Given the description of an element on the screen output the (x, y) to click on. 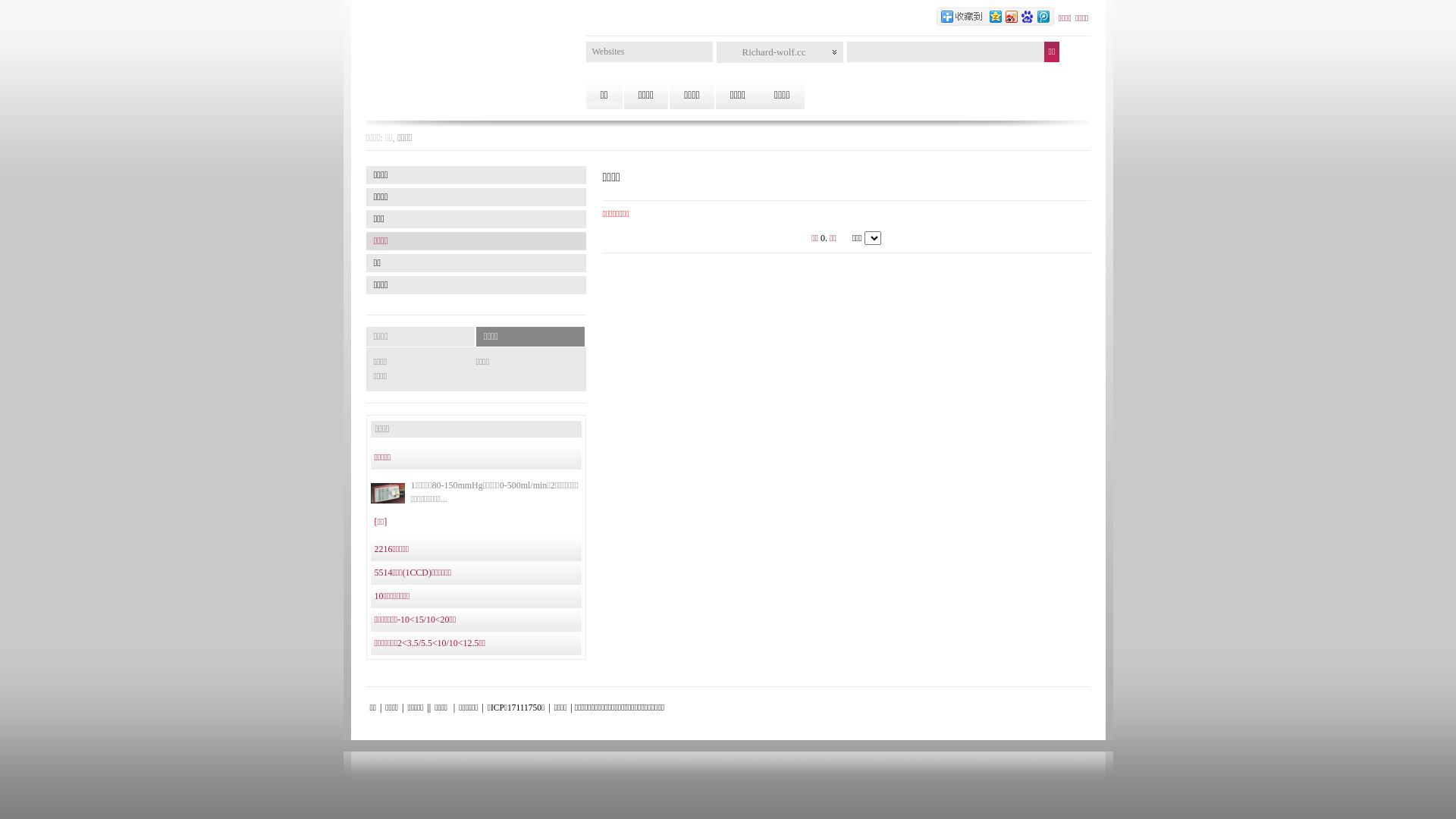
Websites Element type: text (607, 51)
Richard-wolf Element type: hover (729, 50)
